Given the description of an element on the screen output the (x, y) to click on. 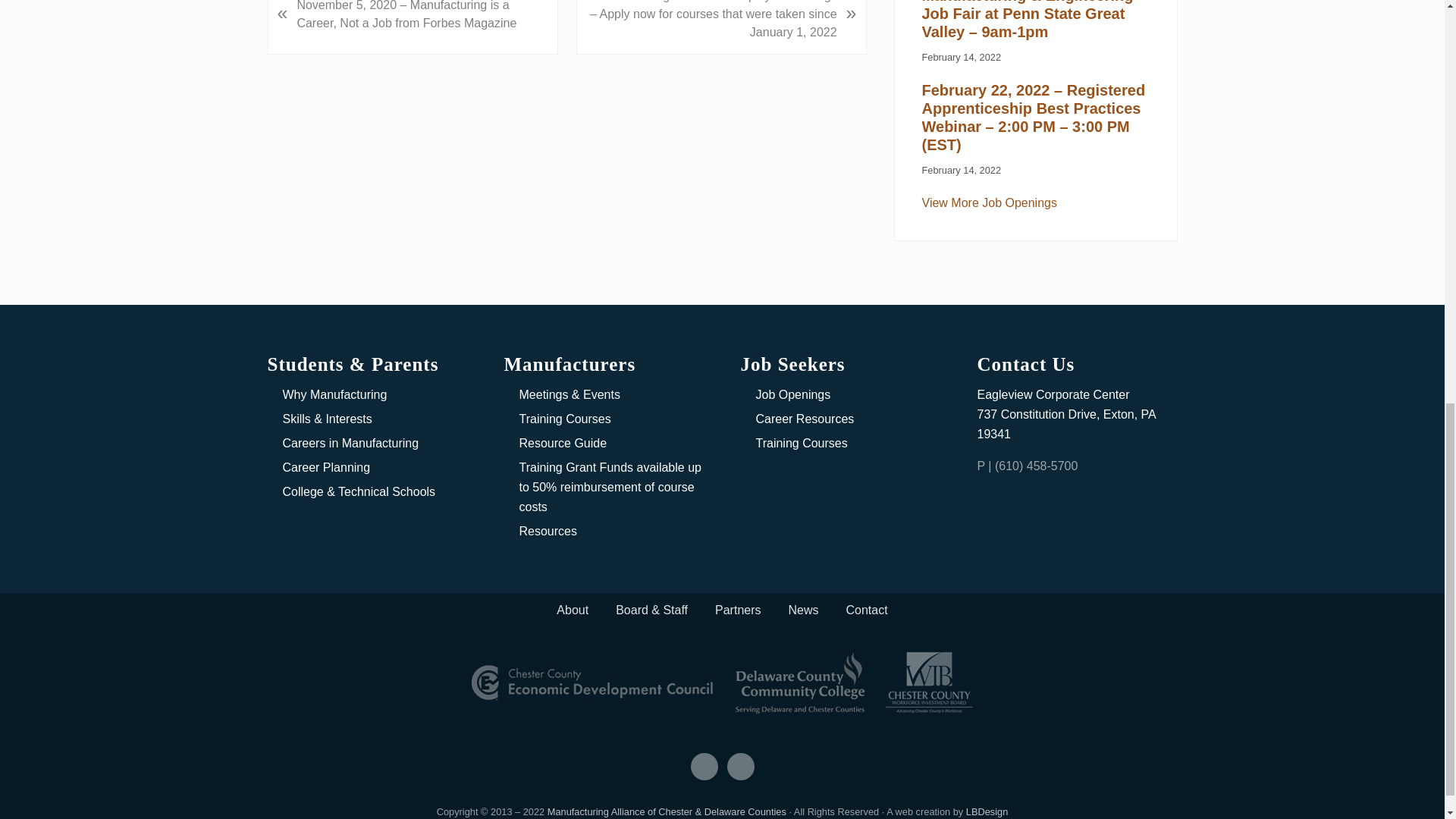
Job Openings (989, 202)
